Given the description of an element on the screen output the (x, y) to click on. 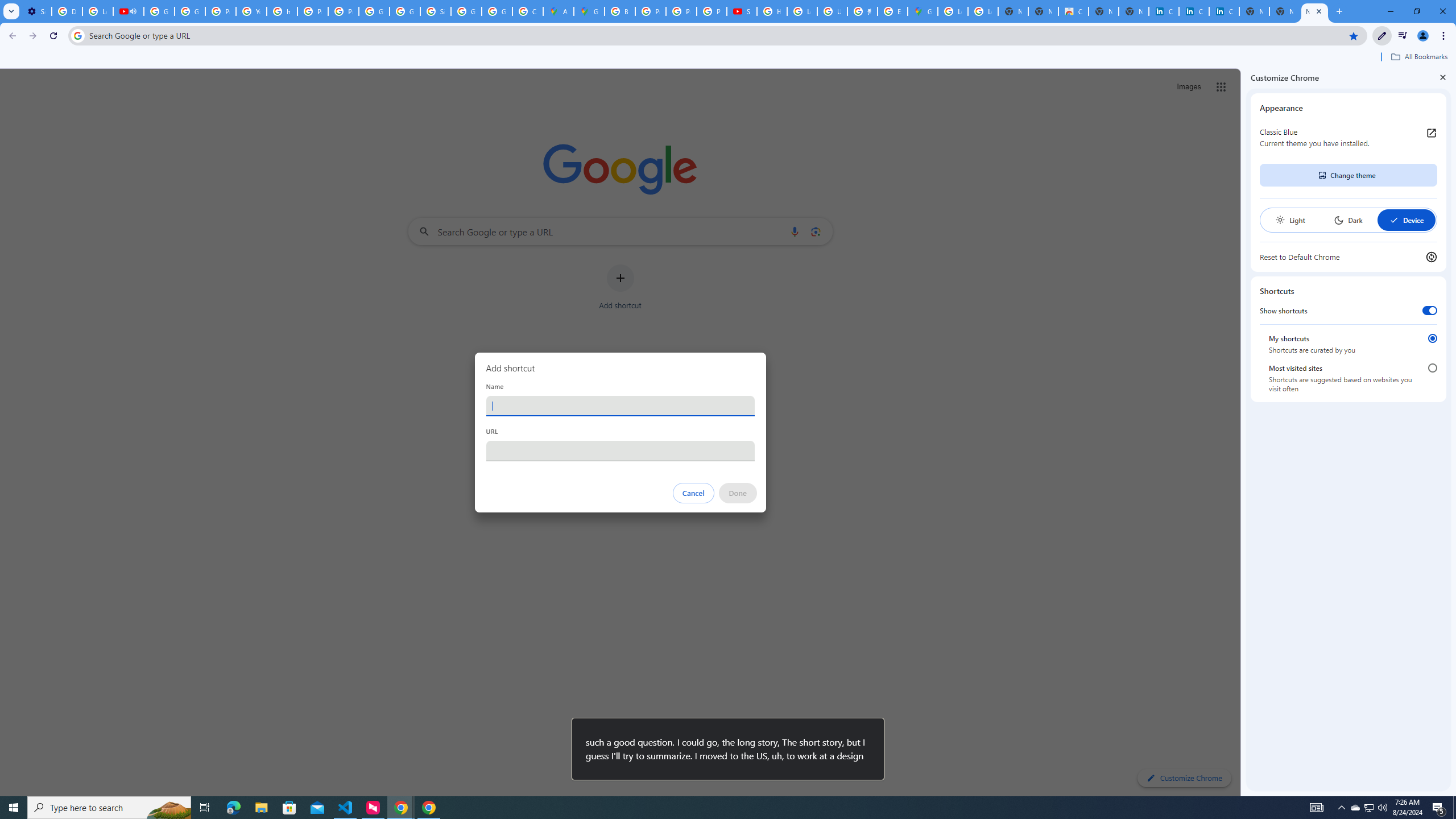
Show shortcuts (1429, 310)
Blogger Policies and Guidelines - Transparency Center (619, 11)
Bookmarks (728, 58)
Cancel (693, 493)
Settings - Customize profile (36, 11)
My shortcuts (1432, 338)
https://scholar.google.com/ (282, 11)
All Bookmarks (1418, 56)
Most visited sites (1432, 367)
